Given the description of an element on the screen output the (x, y) to click on. 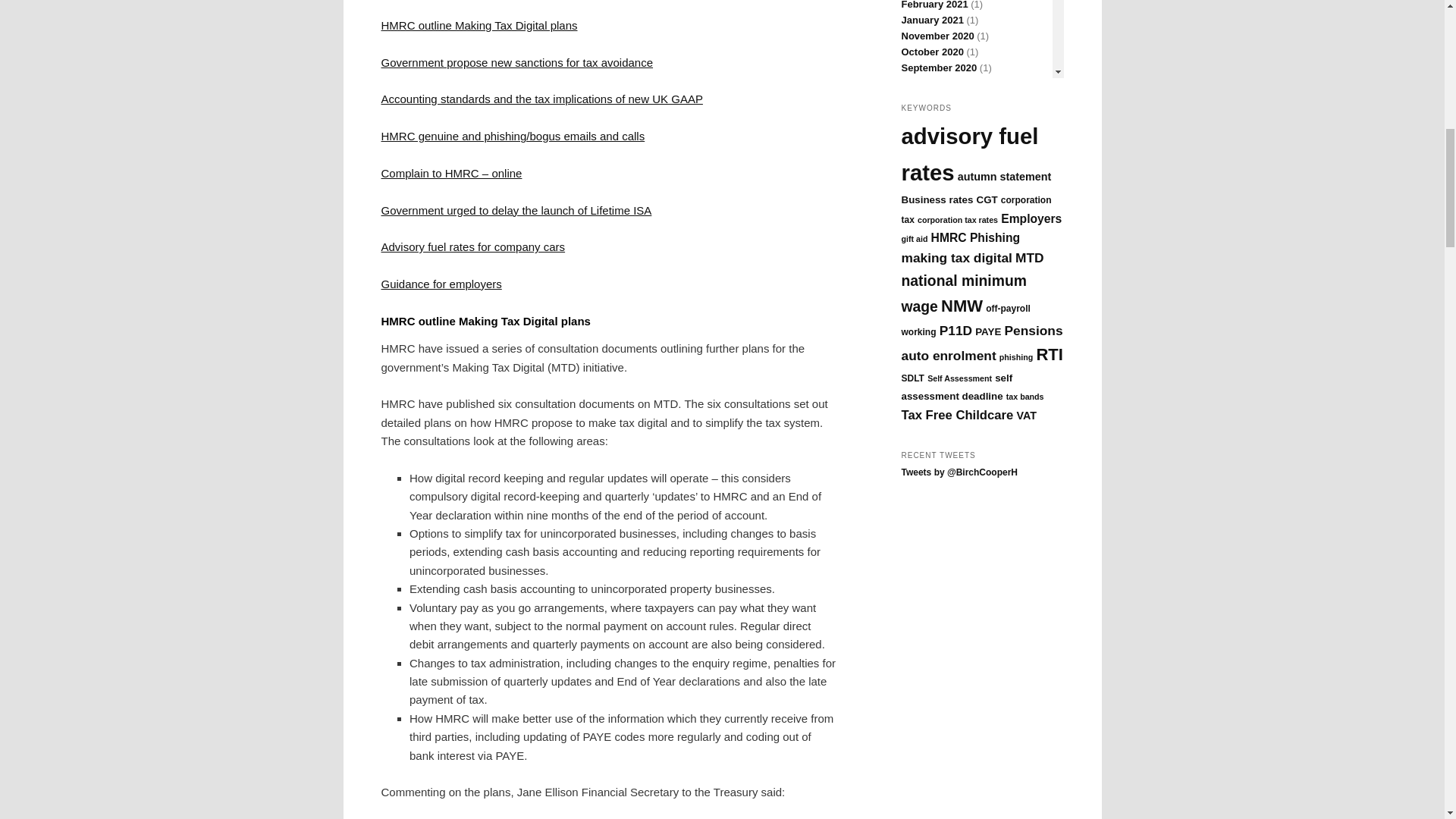
Government propose new sanctions for tax avoidance (516, 62)
Advisory fuel rates for company cars (472, 246)
Government urged to delay the launch of Lifetime ISA (515, 209)
Guidance for employers (440, 283)
HMRC outline Making Tax Digital plans (478, 24)
Accounting standards and the tax implications of new UK GAAP (540, 98)
